Given the description of an element on the screen output the (x, y) to click on. 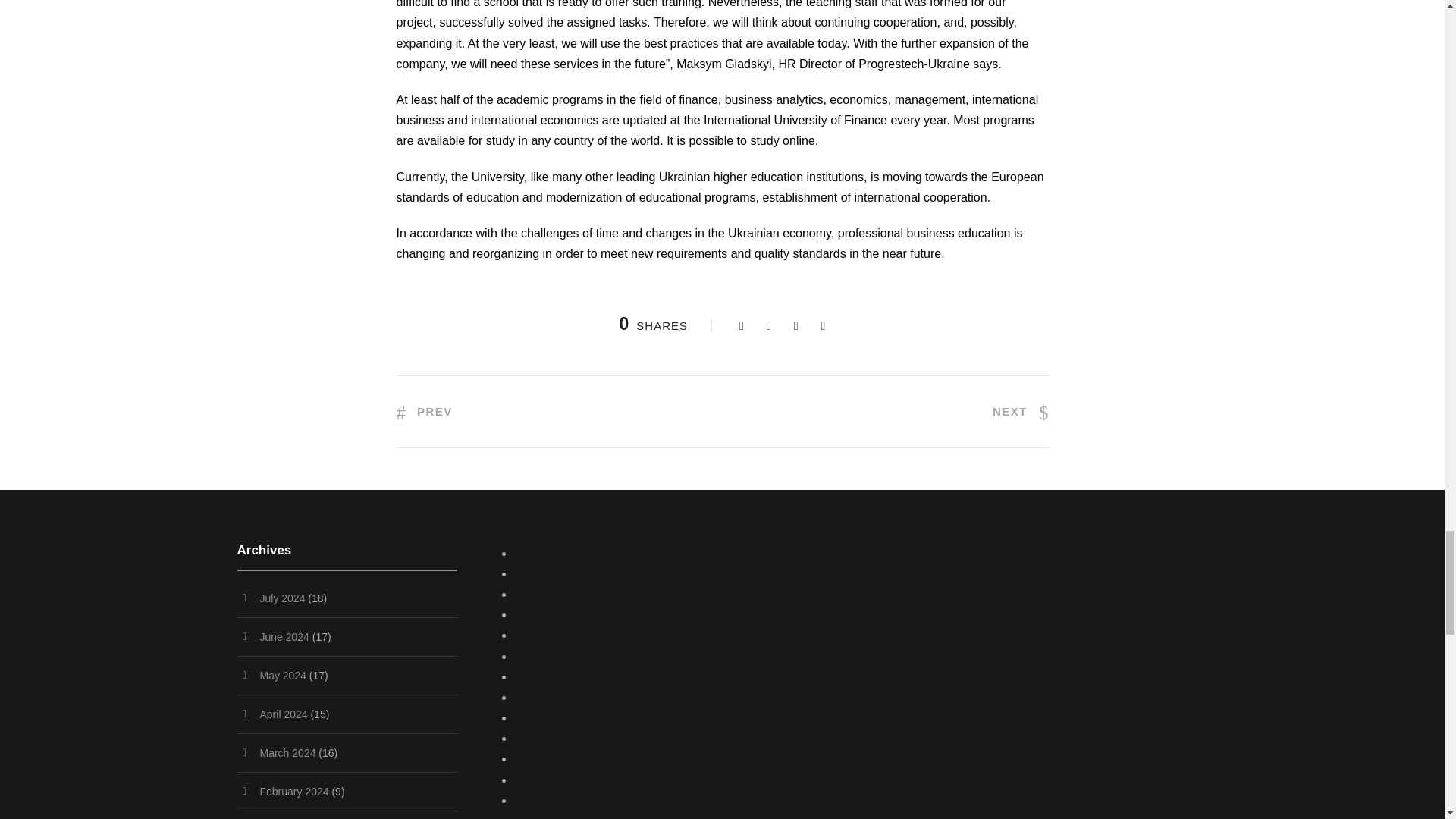
PREV (423, 410)
March 2024 (287, 752)
May 2024 (282, 675)
NEXT (1020, 410)
July 2024 (281, 598)
February 2024 (294, 791)
June 2024 (283, 636)
April 2024 (283, 714)
